Given the description of an element on the screen output the (x, y) to click on. 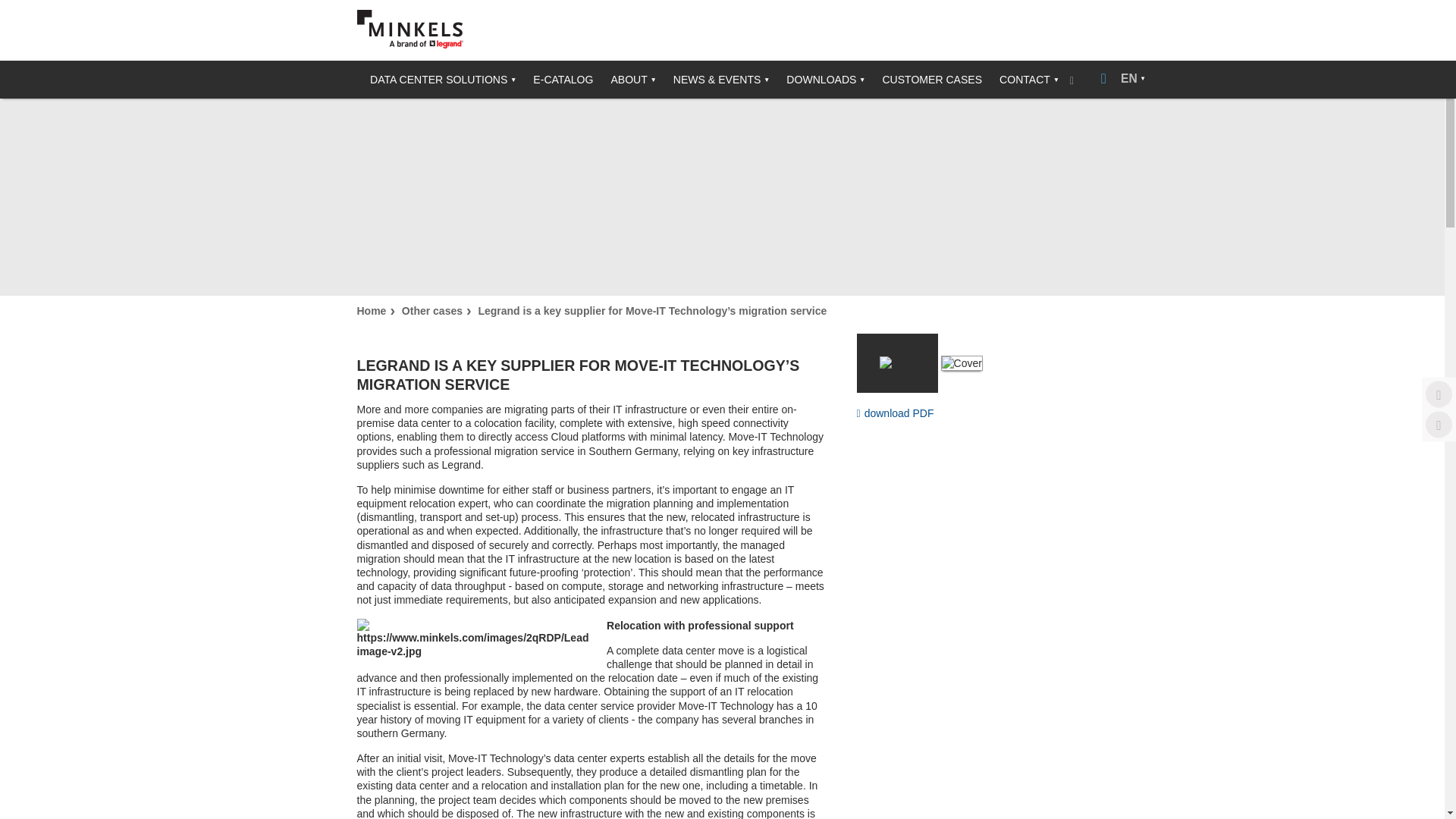
Go to minkels.com (409, 28)
DOWNLOADS (818, 79)
DATA CENTER SOLUTIONS (436, 79)
ABOUT (626, 79)
E-CATALOG (556, 79)
